Given the description of an element on the screen output the (x, y) to click on. 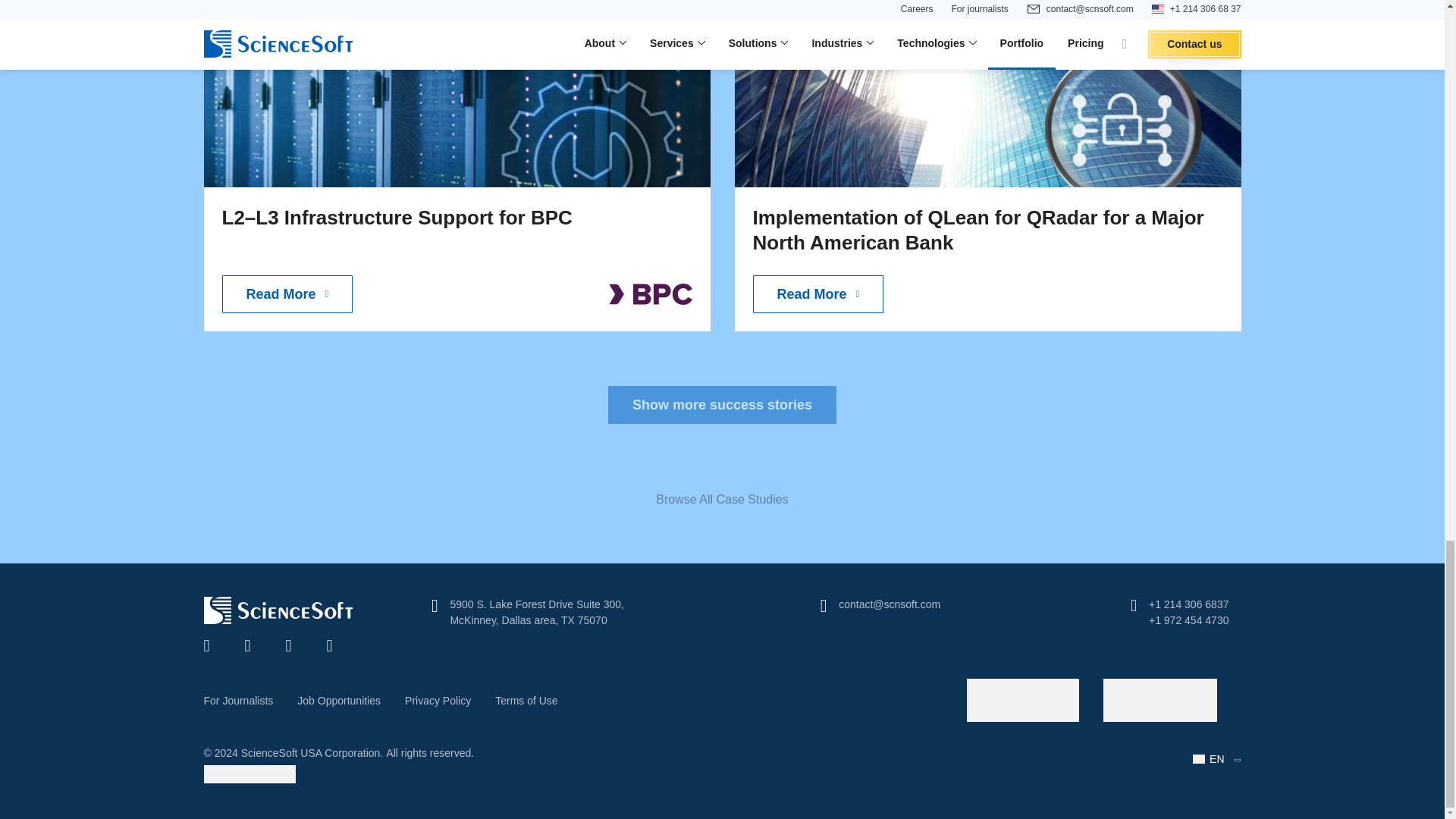
DMCA.com Protection Status (249, 779)
